Given the description of an element on the screen output the (x, y) to click on. 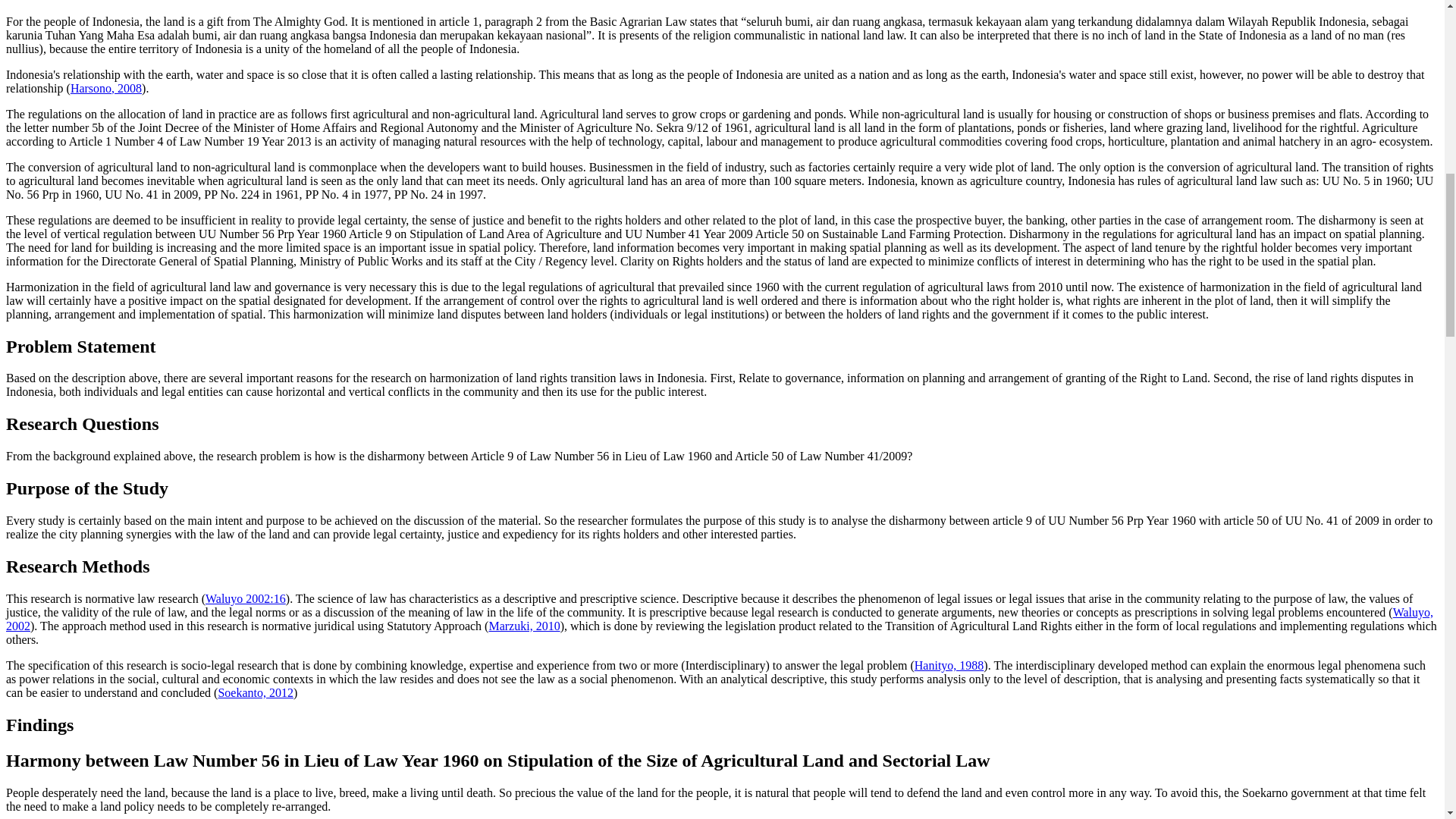
Soekanto, 2012 (255, 692)
Harsono, 2008 (105, 88)
Waluyo 2002:16 (245, 598)
Hanityo, 1988 (949, 665)
Marzuki, 2010 (523, 625)
